Given the description of an element on the screen output the (x, y) to click on. 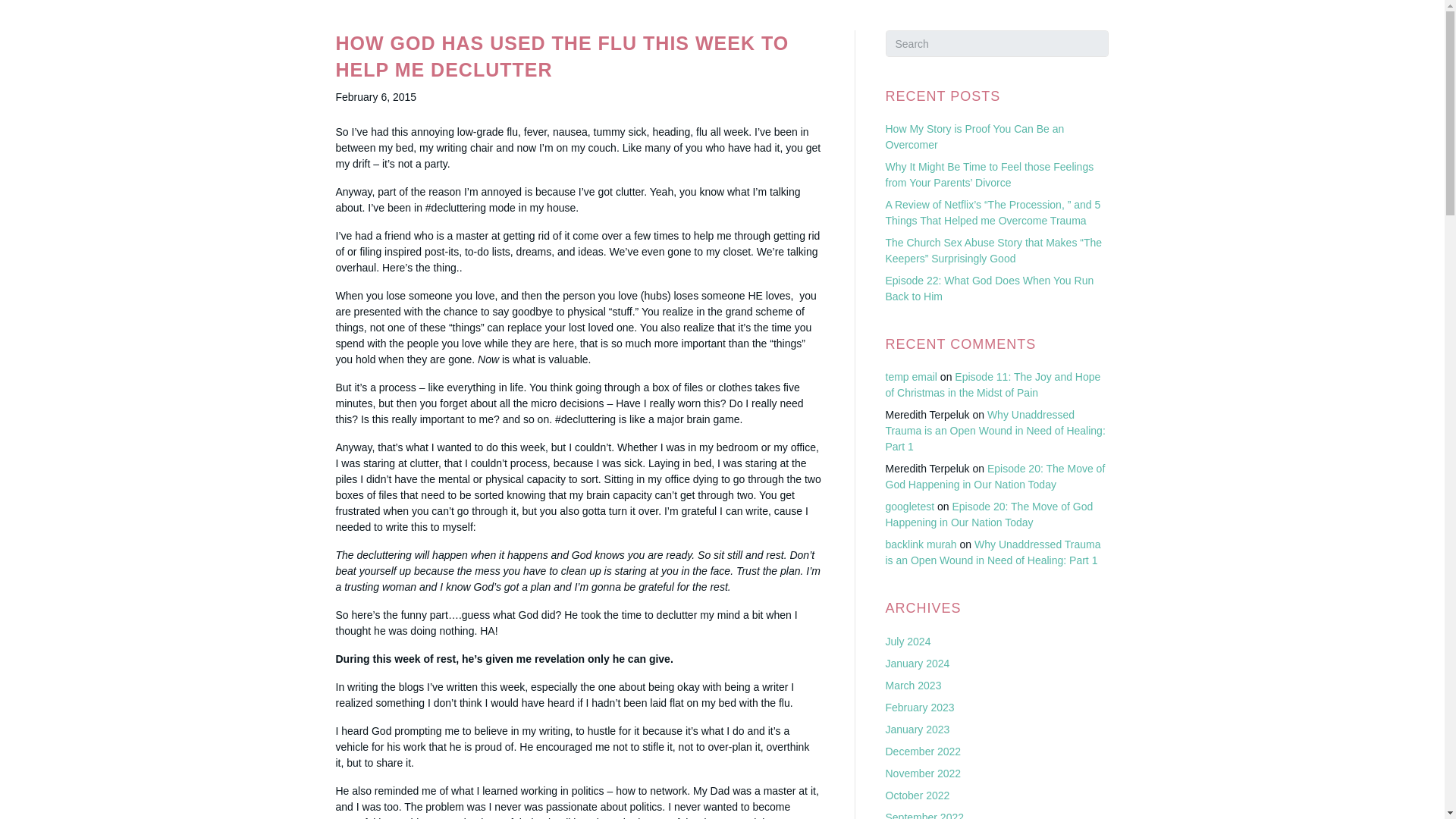
Episode 20: The Move of God Happening in Our Nation Today (989, 514)
September 2022 (924, 815)
Episode 20: The Move of God Happening in Our Nation Today (995, 476)
March 2023 (913, 685)
temp email (911, 377)
February 2023 (920, 707)
January 2024 (917, 663)
November 2022 (922, 773)
Episode 22: What God Does When You Run Back to Him (989, 288)
backlink murah (920, 544)
October 2022 (917, 795)
How My Story is Proof You Can Be an Overcomer (974, 136)
December 2022 (922, 751)
